Given the description of an element on the screen output the (x, y) to click on. 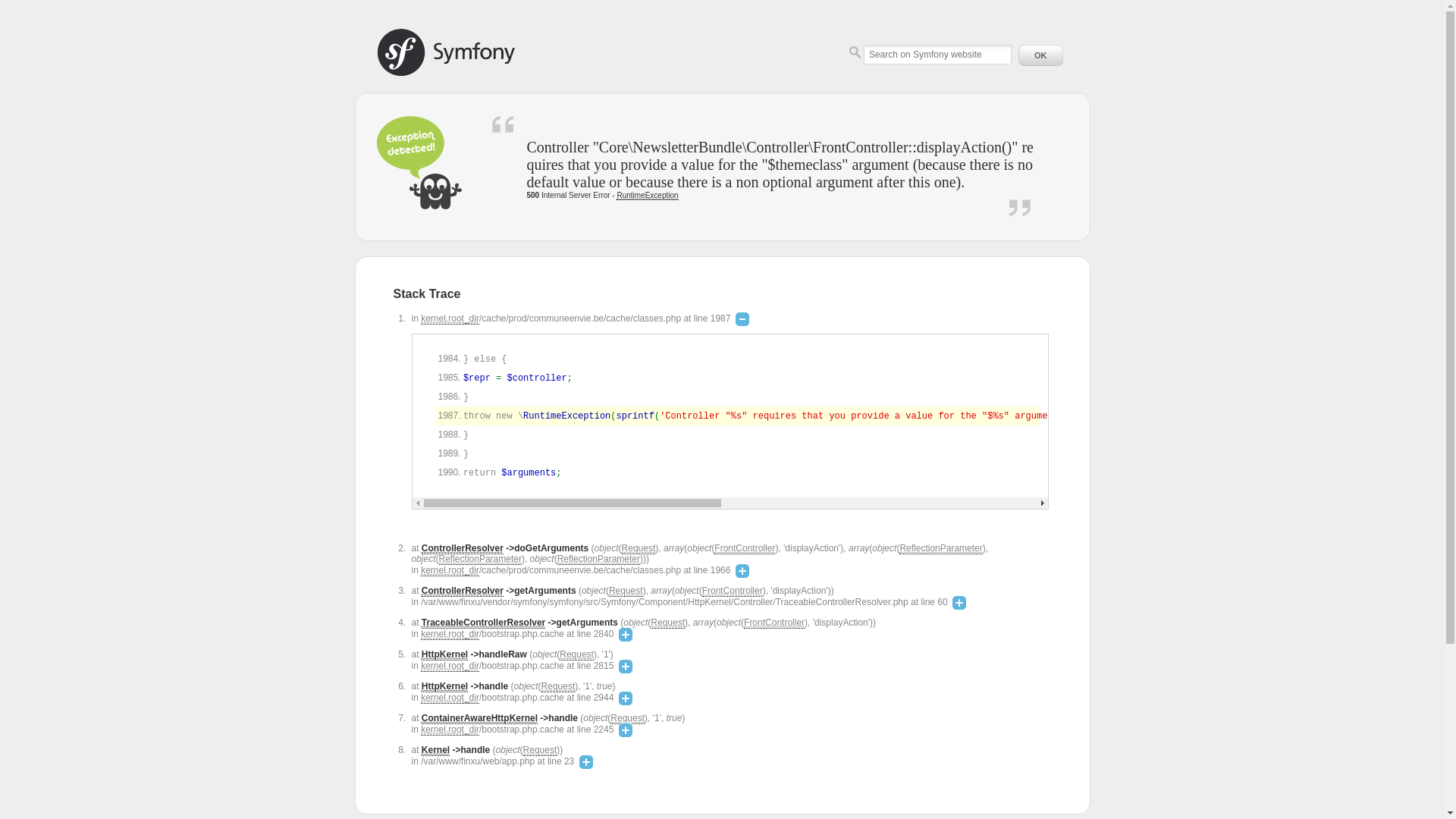
OK Element type: text (1040, 54)
